Given the description of an element on the screen output the (x, y) to click on. 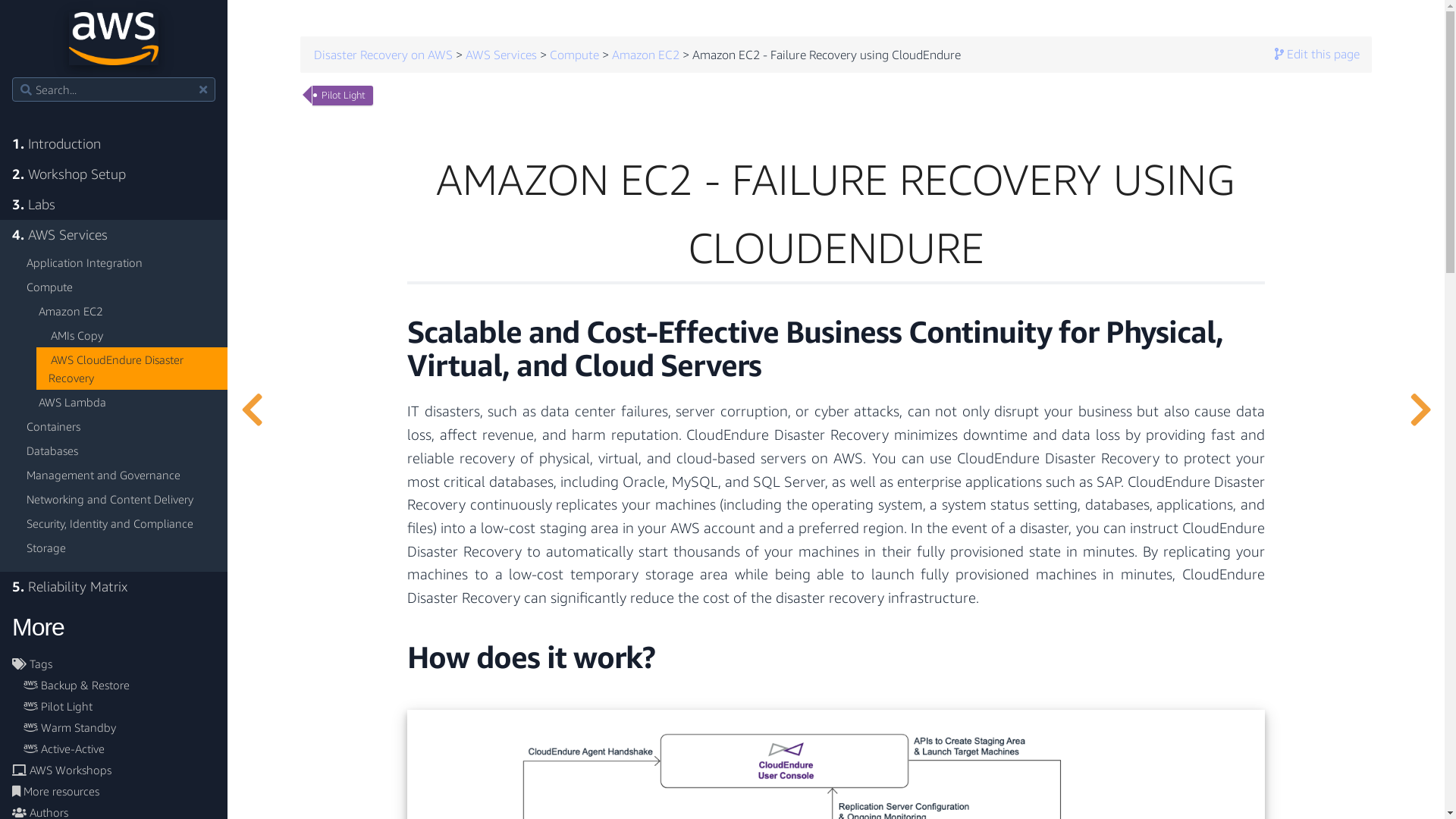
More resources Element type: text (113, 790)
Application Integration Element type: text (119, 262)
AWS Workshops Element type: text (113, 769)
1. Introduction Element type: text (113, 143)
AMIs Copy Element type: text (131, 335)
Security, Identity and Compliance Element type: text (119, 523)
Databases Element type: text (119, 450)
Compute Element type: text (574, 55)
Compute Element type: text (119, 286)
Management and Governance Element type: text (119, 474)
Pilot Light Element type: text (342, 95)
Containers Element type: text (119, 426)
AWS CloudEndure Disaster Recovery Element type: text (131, 368)
Warm Standby Element type: text (113, 727)
Amazon EC2 Element type: text (645, 55)
Storage Element type: text (119, 547)
Backup & Restore Element type: text (113, 684)
AWS Services Element type: text (500, 55)
5. Reliability Matrix Element type: text (113, 586)
4. AWS Services Element type: text (113, 234)
Active-Active Element type: text (113, 748)
Amazon EC2 Element type: text (125, 310)
Edit this page Element type: text (1316, 54)
Pilot Light Element type: text (113, 705)
Go home Element type: hover (113, 38)
2. Workshop Setup Element type: text (113, 174)
AWS Lambda Element type: text (125, 401)
3. Labs Element type: text (113, 204)
Networking and Content Delivery Element type: text (119, 498)
Disaster Recovery on AWS Element type: text (382, 55)
Tags Element type: text (113, 663)
